Given the description of an element on the screen output the (x, y) to click on. 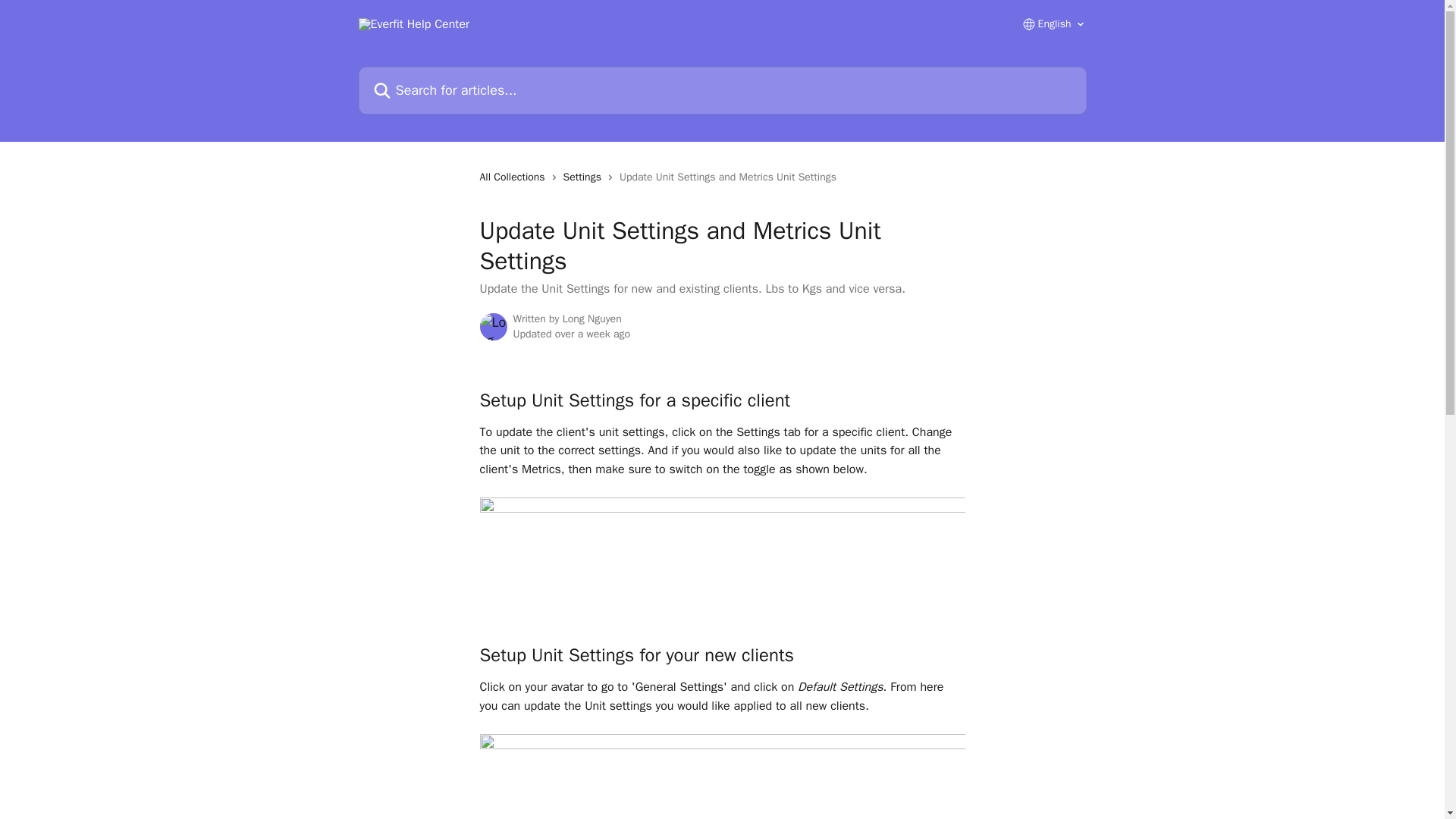
Settings (585, 176)
All Collections (514, 176)
